Given the description of an element on the screen output the (x, y) to click on. 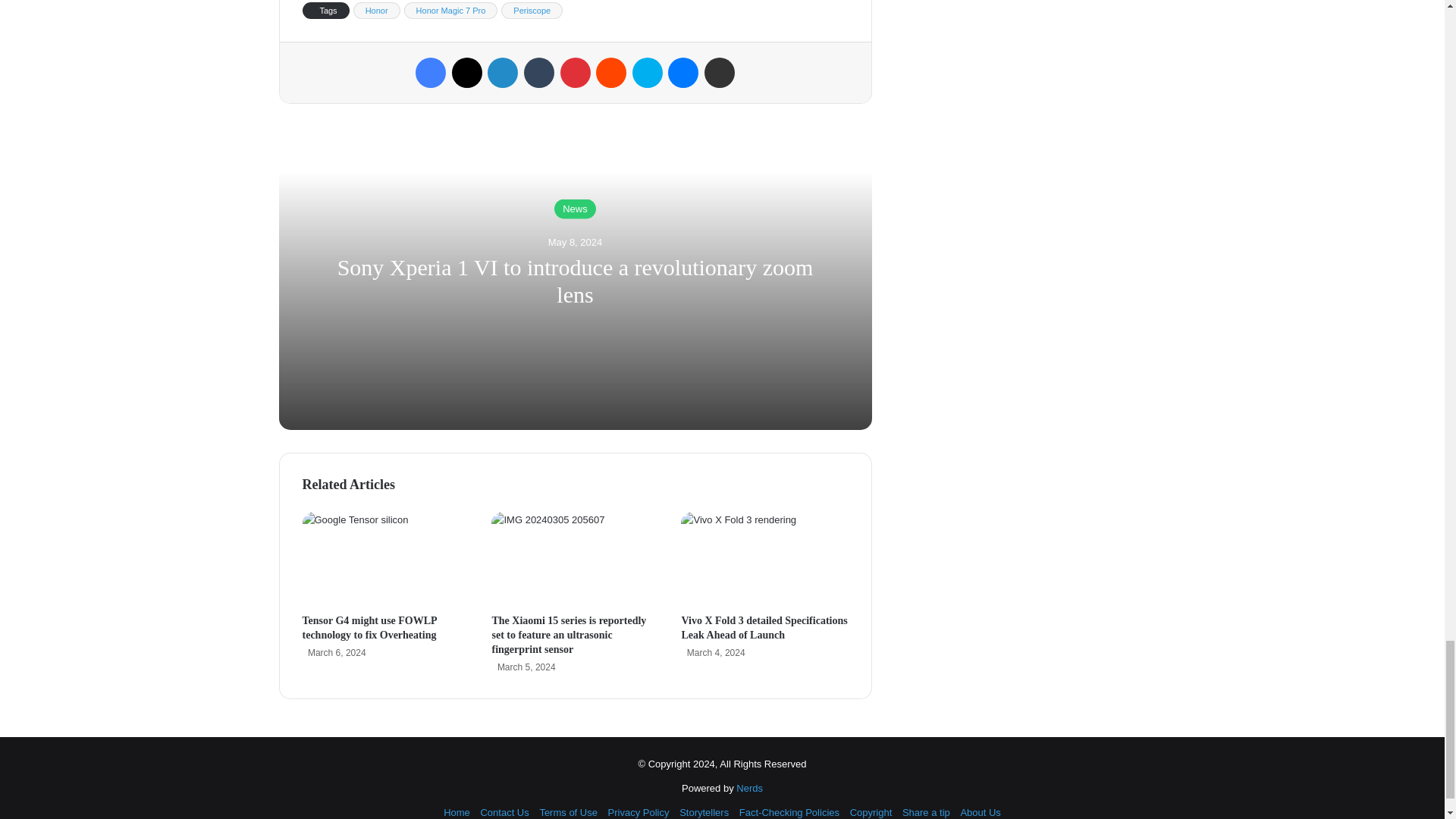
Honor (376, 10)
X (466, 72)
Pinterest (574, 72)
Reddit (610, 72)
Tumblr (539, 72)
LinkedIn (502, 72)
Facebook (429, 72)
